Given the description of an element on the screen output the (x, y) to click on. 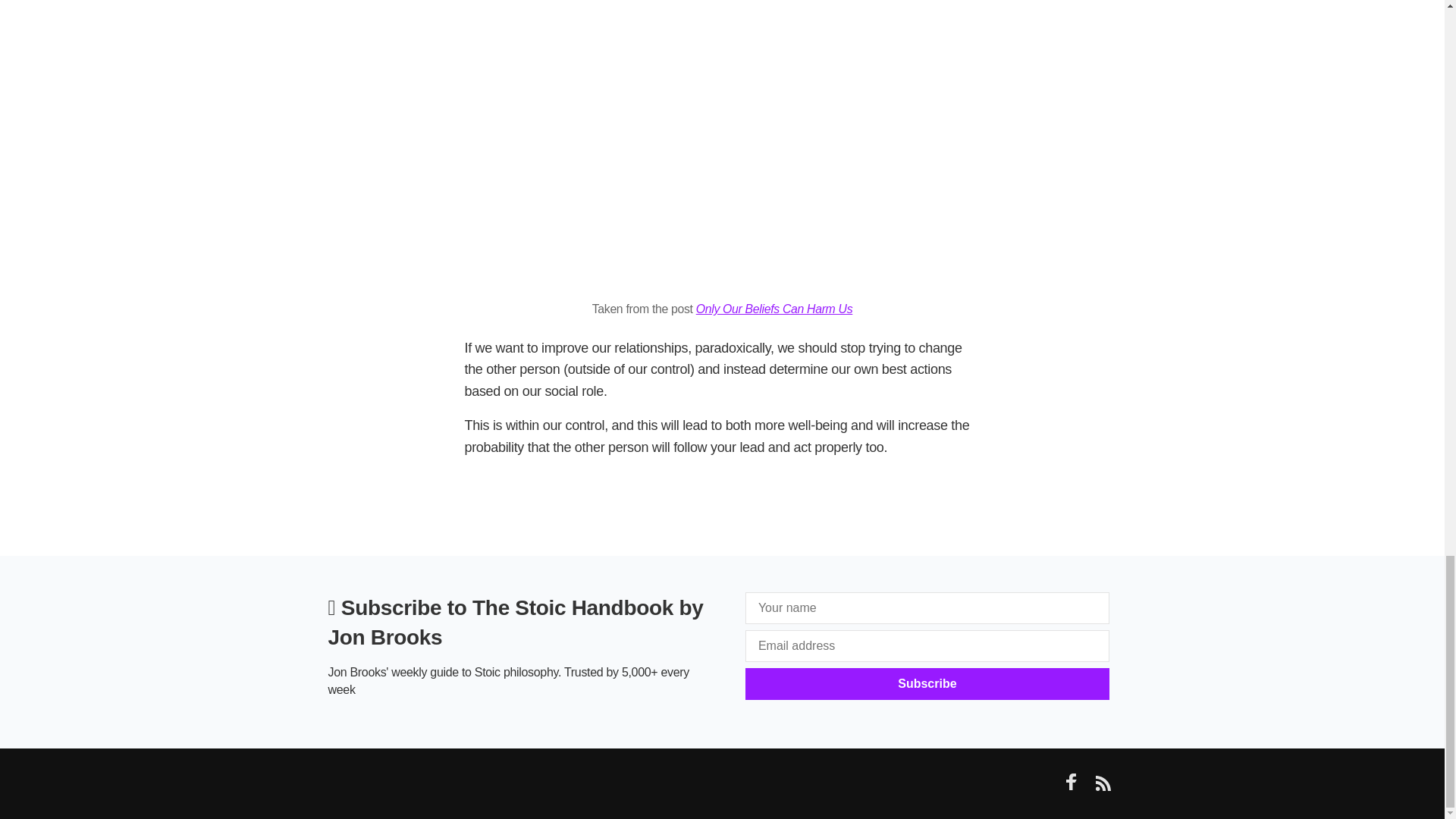
Subscribe (927, 684)
Only Our Beliefs Can Harm Us (774, 308)
RSS (1101, 787)
